Given the description of an element on the screen output the (x, y) to click on. 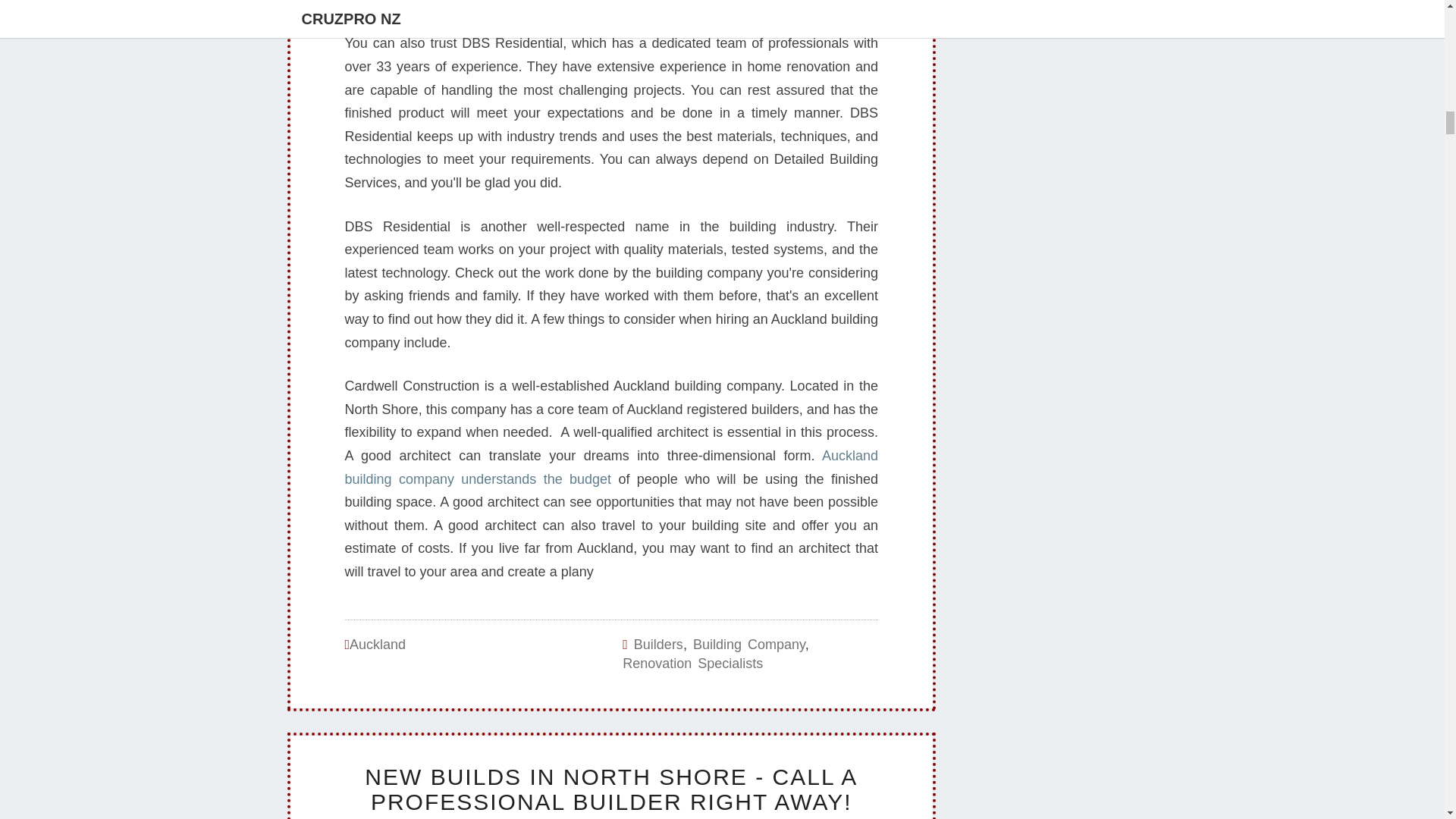
Auckland (377, 644)
Auckland building company understands the budget (610, 466)
Renovation Specialists (692, 663)
Builders (657, 644)
Building Company (749, 644)
